Given the description of an element on the screen output the (x, y) to click on. 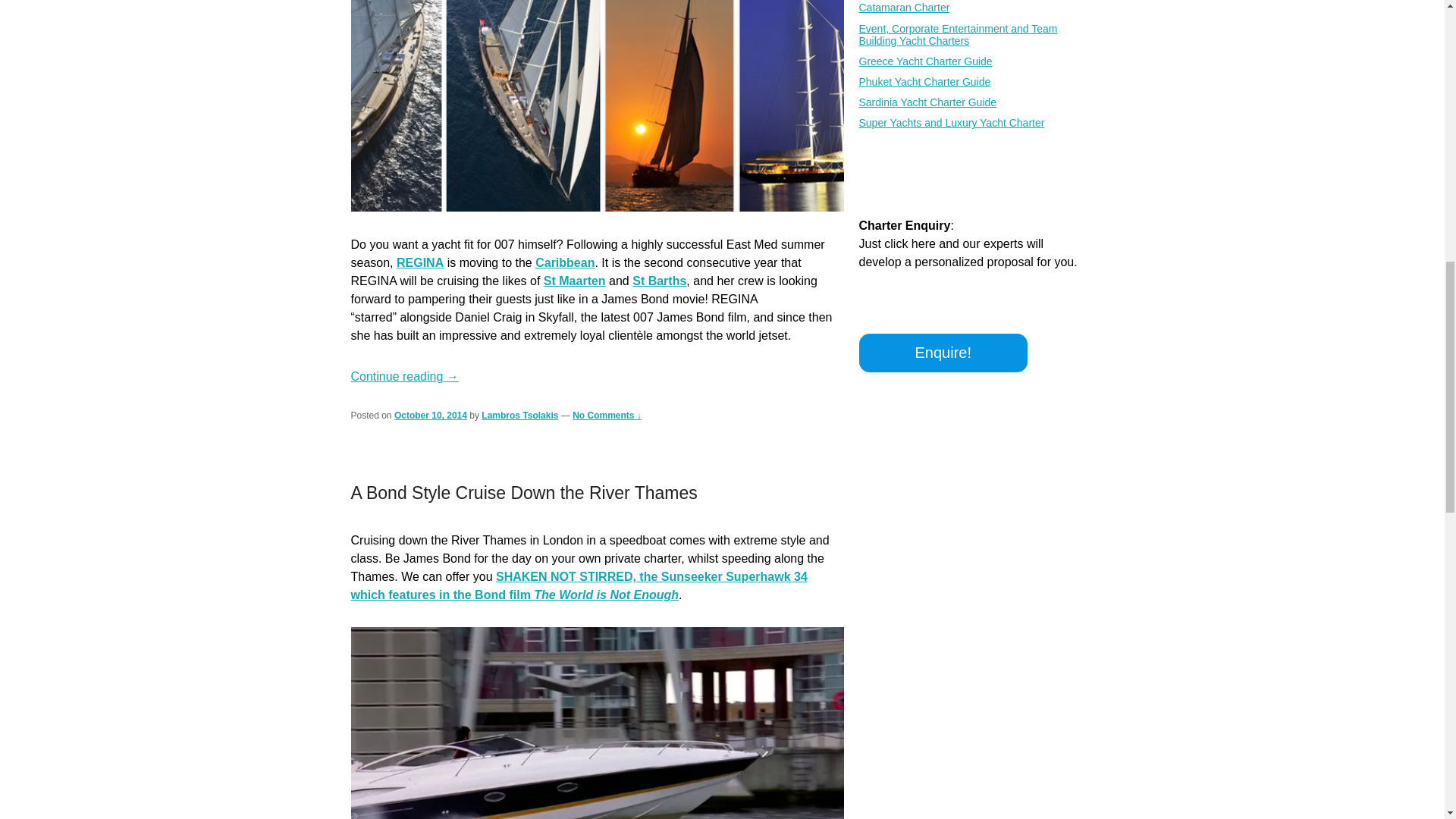
Lambros Tsolakis (519, 415)
Charter Yacht REGINA (420, 262)
A Bond Style Cruise Down the River Thames (523, 492)
REGINA (420, 262)
St Barthelemy Charter Guide (658, 280)
Caribbean (564, 262)
October 10, 2014 (430, 415)
St Martin Yacht Charter Guide (574, 280)
St Barths (658, 280)
